Given the description of an element on the screen output the (x, y) to click on. 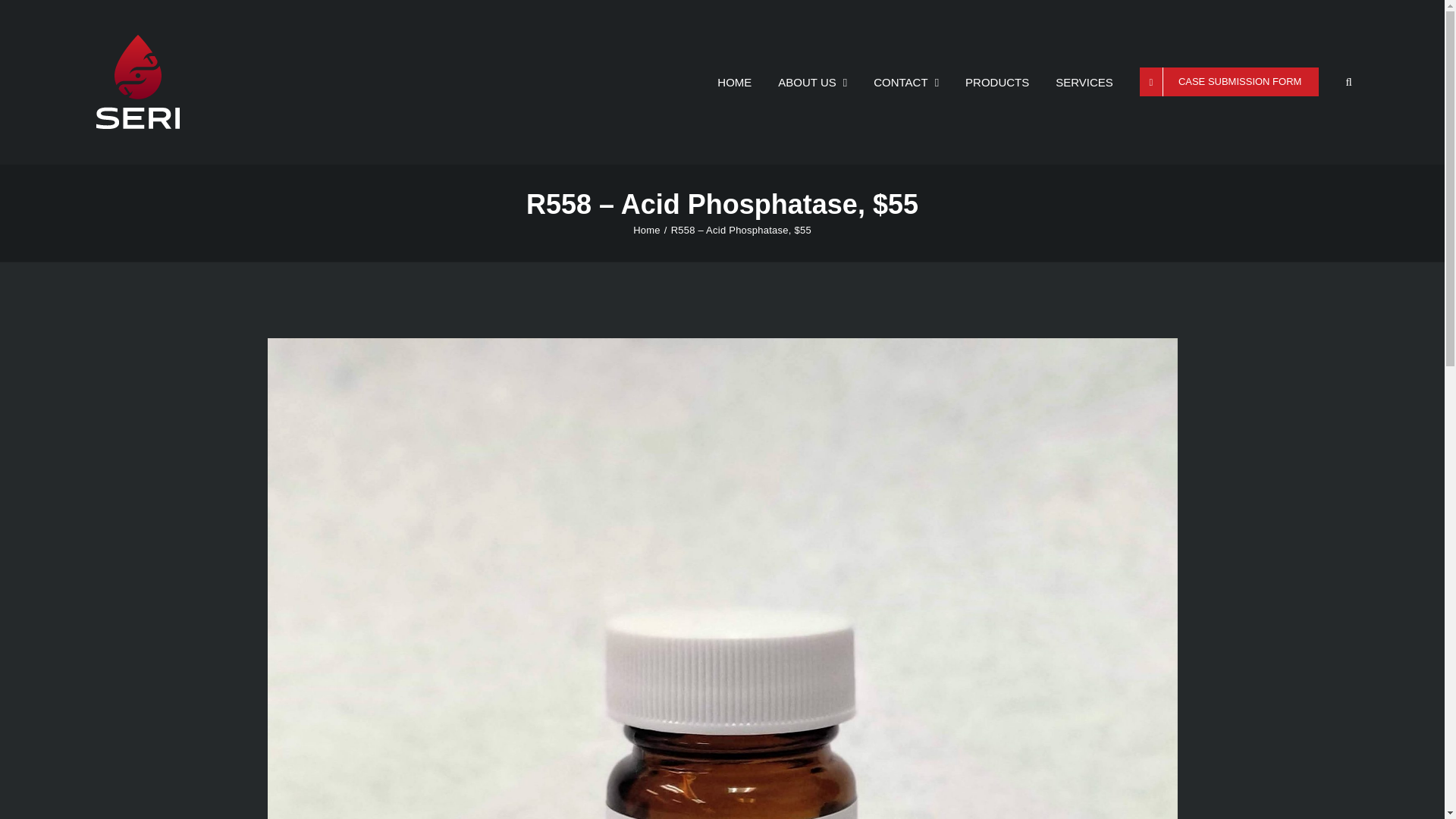
Home (647, 229)
CASE SUBMISSION FORM (1229, 81)
